Given the description of an element on the screen output the (x, y) to click on. 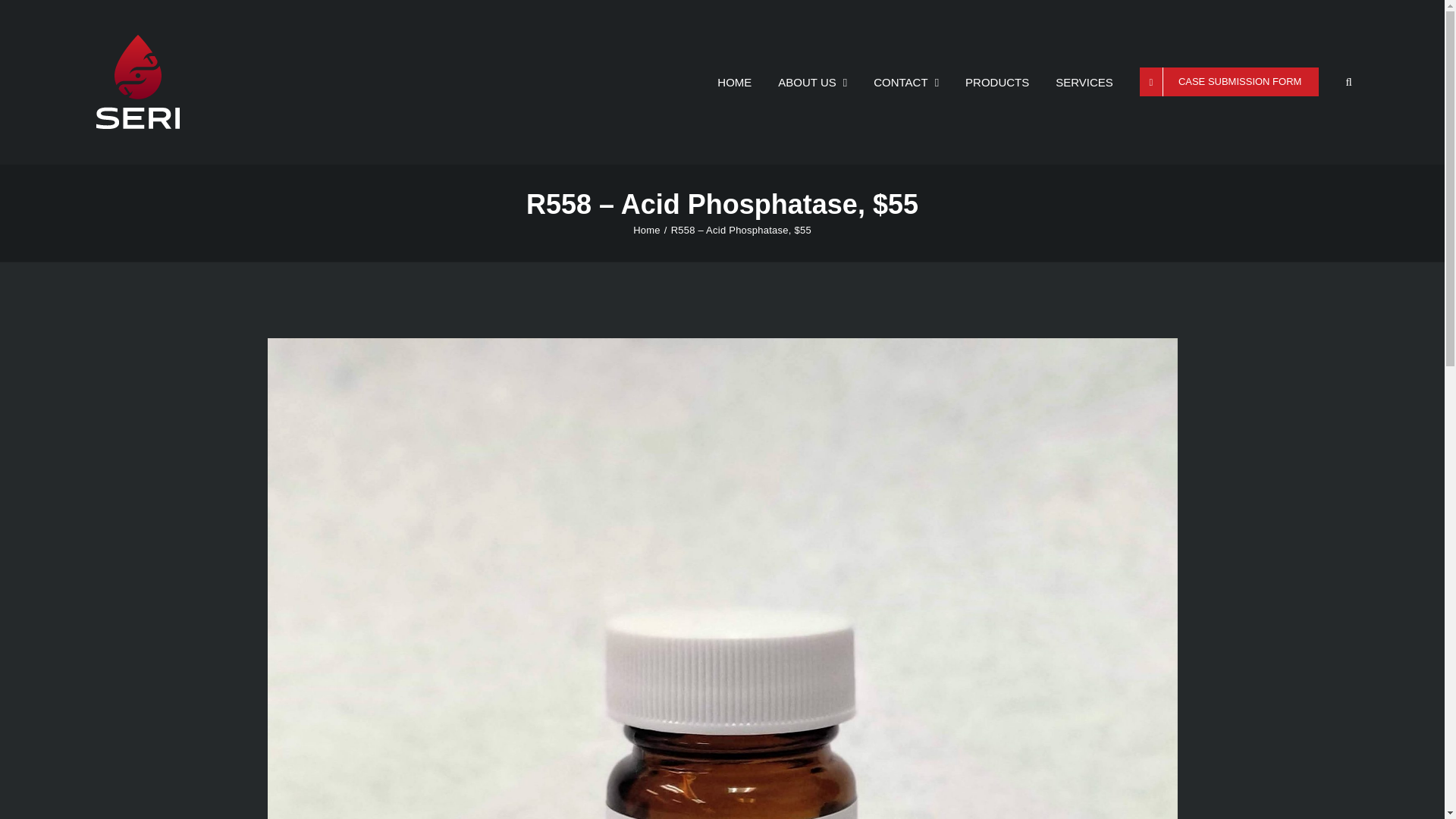
Home (647, 229)
CASE SUBMISSION FORM (1229, 81)
